Given the description of an element on the screen output the (x, y) to click on. 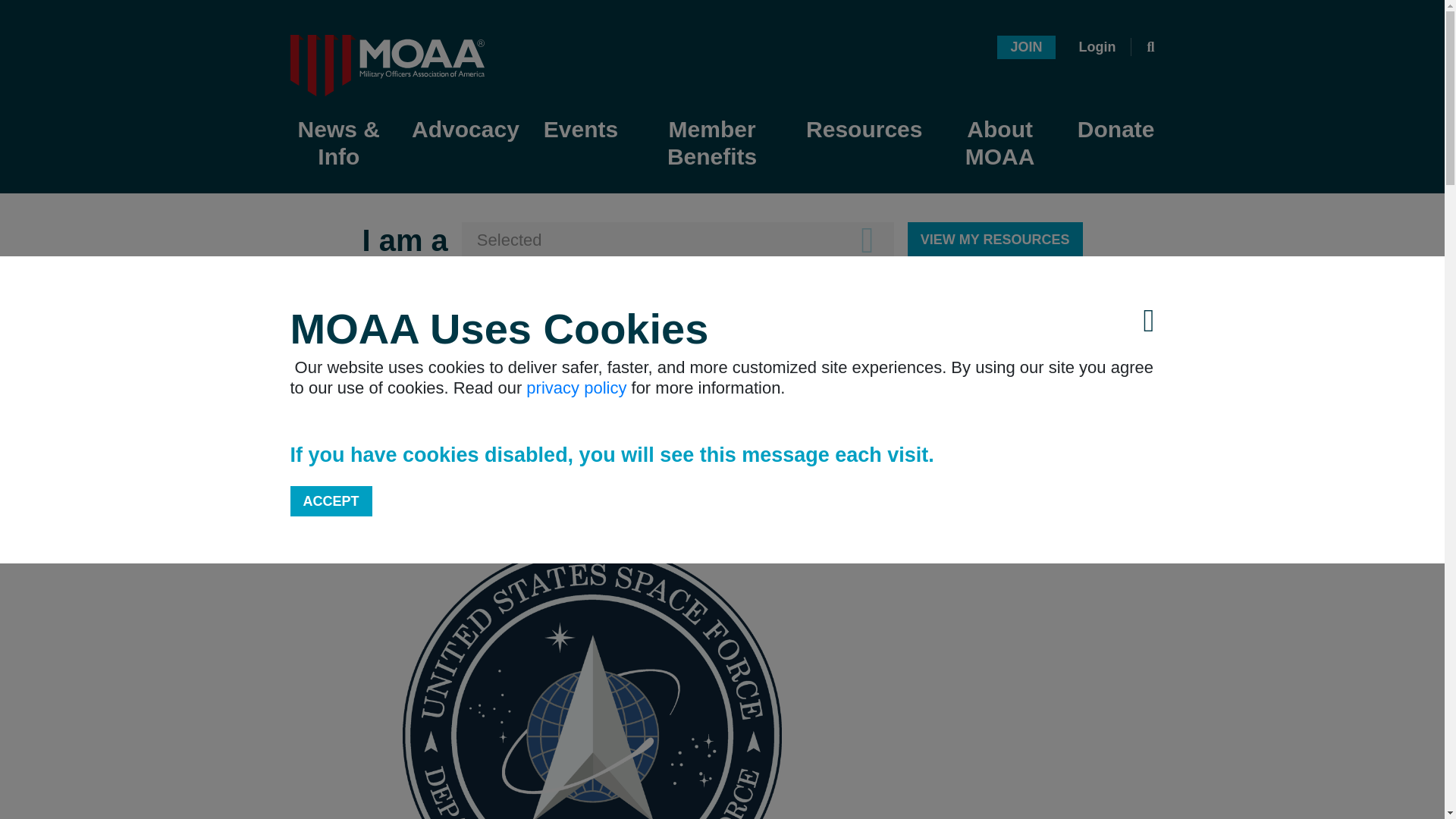
JOIN (1025, 46)
Events (580, 130)
ACCEPT (330, 500)
Advocacy (464, 130)
Member Benefits (711, 143)
3rd party ad content (721, 378)
privacy policy (575, 386)
3rd party ad content (1030, 786)
3rd party ad content (1030, 640)
Login (1096, 46)
